Given the description of an element on the screen output the (x, y) to click on. 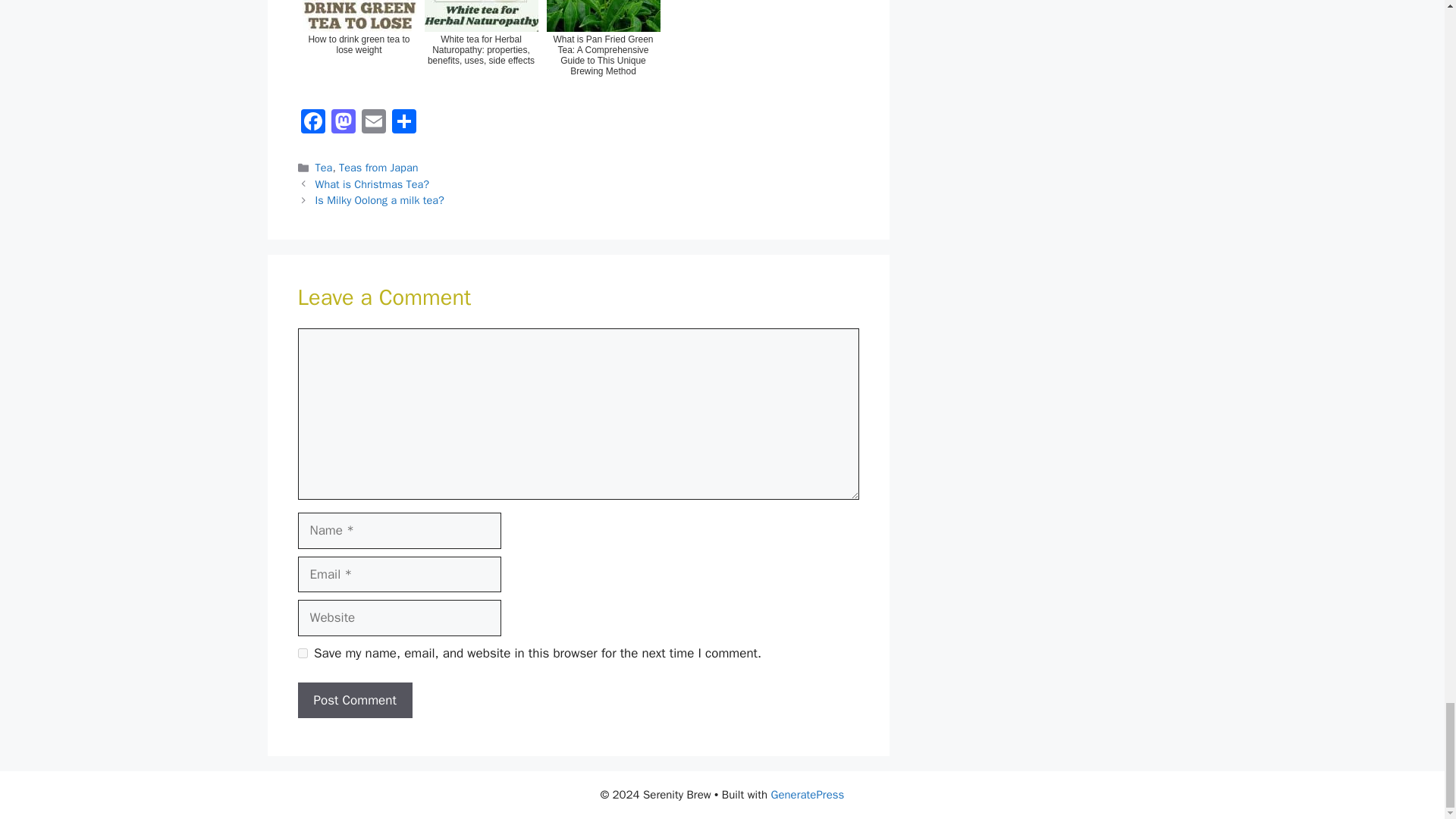
Email (373, 123)
Is Milky Oolong a milk tea? (379, 200)
How to drink green tea to lose weight (358, 46)
Post Comment (354, 700)
Facebook (312, 123)
Mastodon (342, 123)
Facebook (312, 123)
Tea (324, 167)
yes (302, 653)
